Given the description of an element on the screen output the (x, y) to click on. 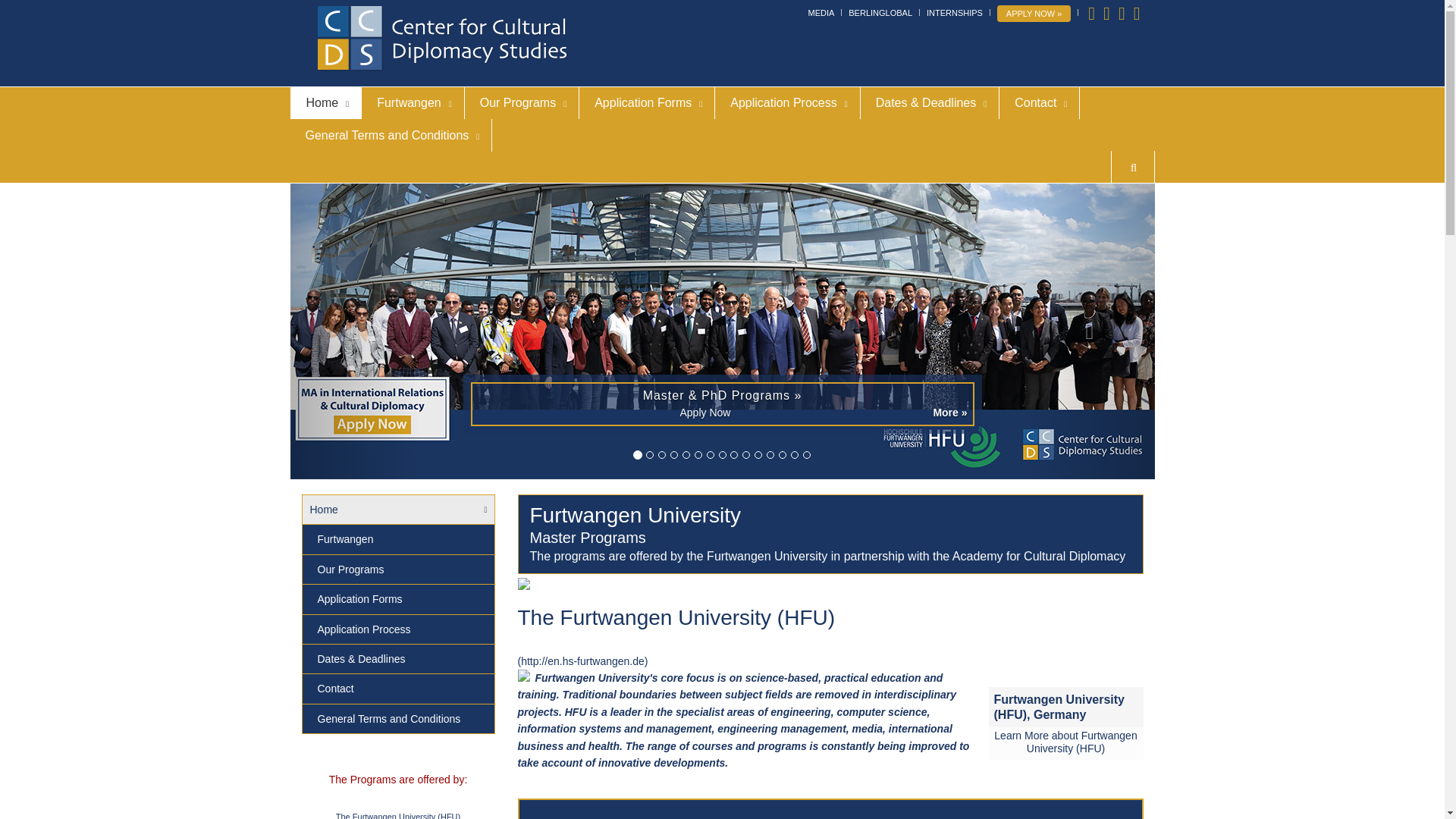
Home (326, 102)
Application Forms (646, 102)
Contact (1038, 102)
BERLINGLOBAL (880, 12)
General Terms and Conditions (390, 134)
Contact (397, 688)
Our Programs (521, 102)
MEDIA (821, 12)
Furtwangen (412, 102)
Contact (1038, 102)
